Given the description of an element on the screen output the (x, y) to click on. 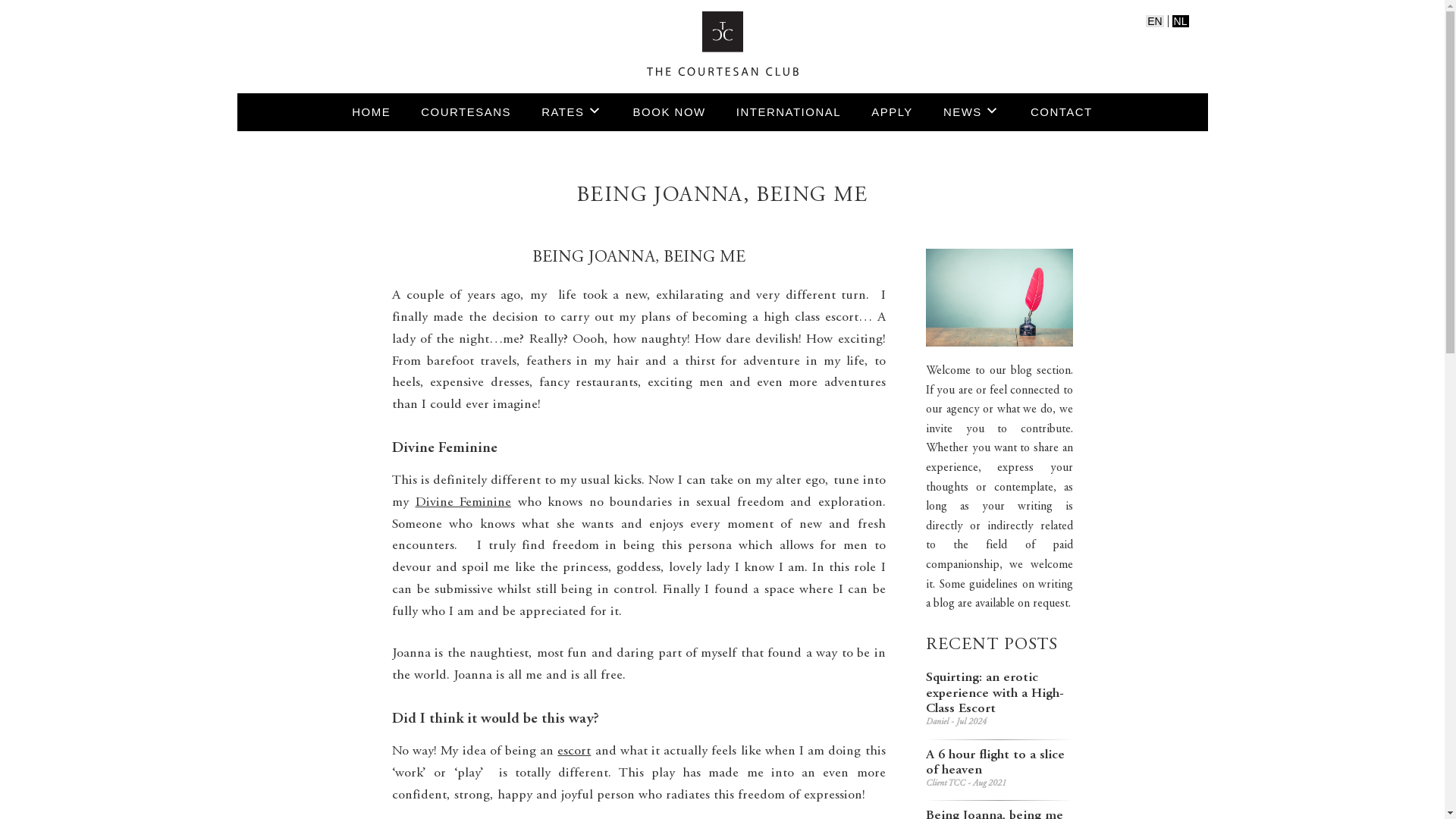
RATES (571, 112)
APPLY (892, 112)
HOME (371, 112)
COURTESANS (465, 112)
escort (574, 751)
INTERNATIONAL (788, 112)
NEWS (971, 112)
Divine Feminine (463, 502)
NL (1180, 21)
